Given the description of an element on the screen output the (x, y) to click on. 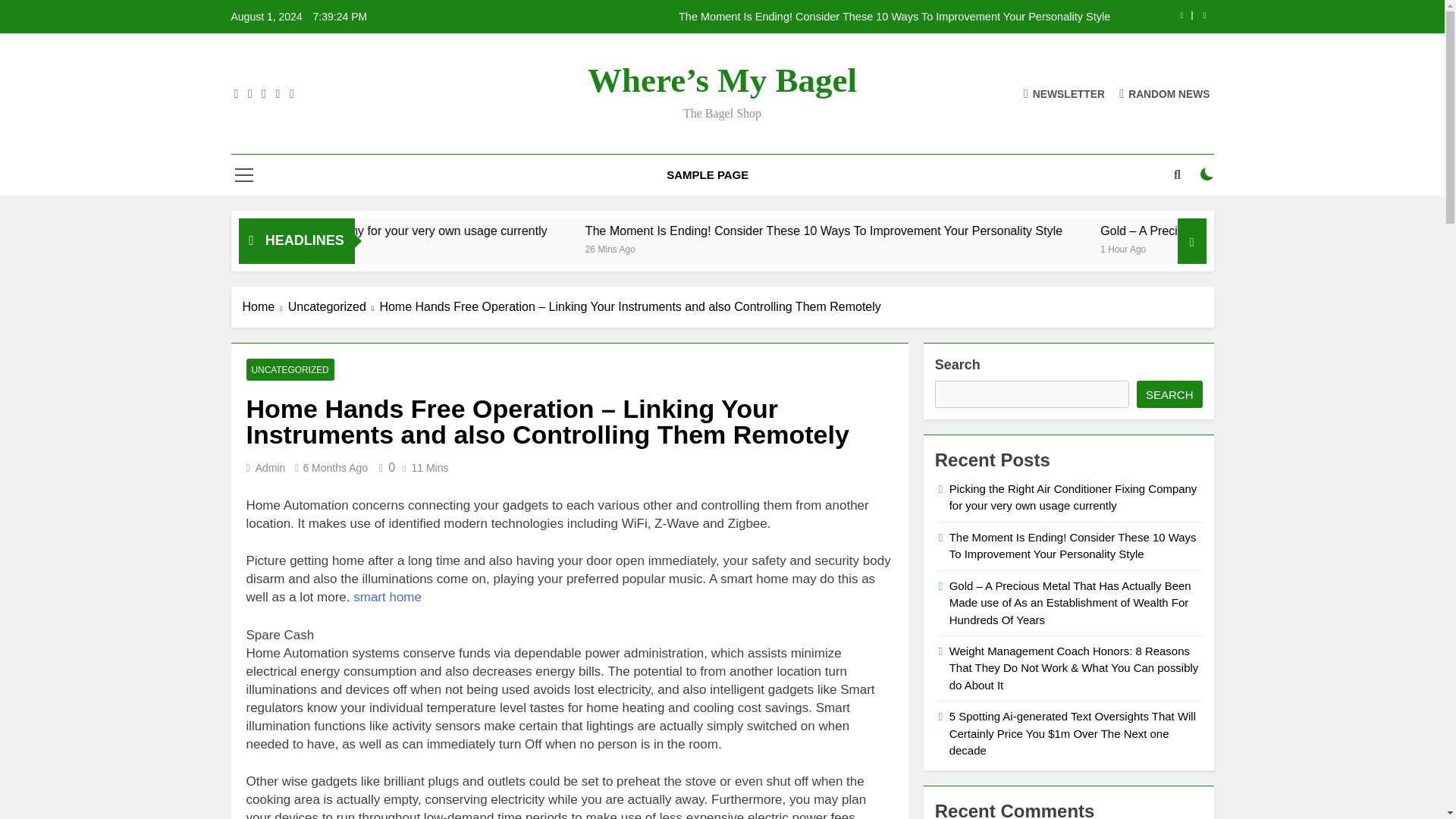
RANDOM NEWS (1164, 92)
4 Mins Ago (348, 247)
on (1206, 173)
26 Mins Ago (834, 247)
NEWSLETTER (1064, 92)
SAMPLE PAGE (707, 174)
